Given the description of an element on the screen output the (x, y) to click on. 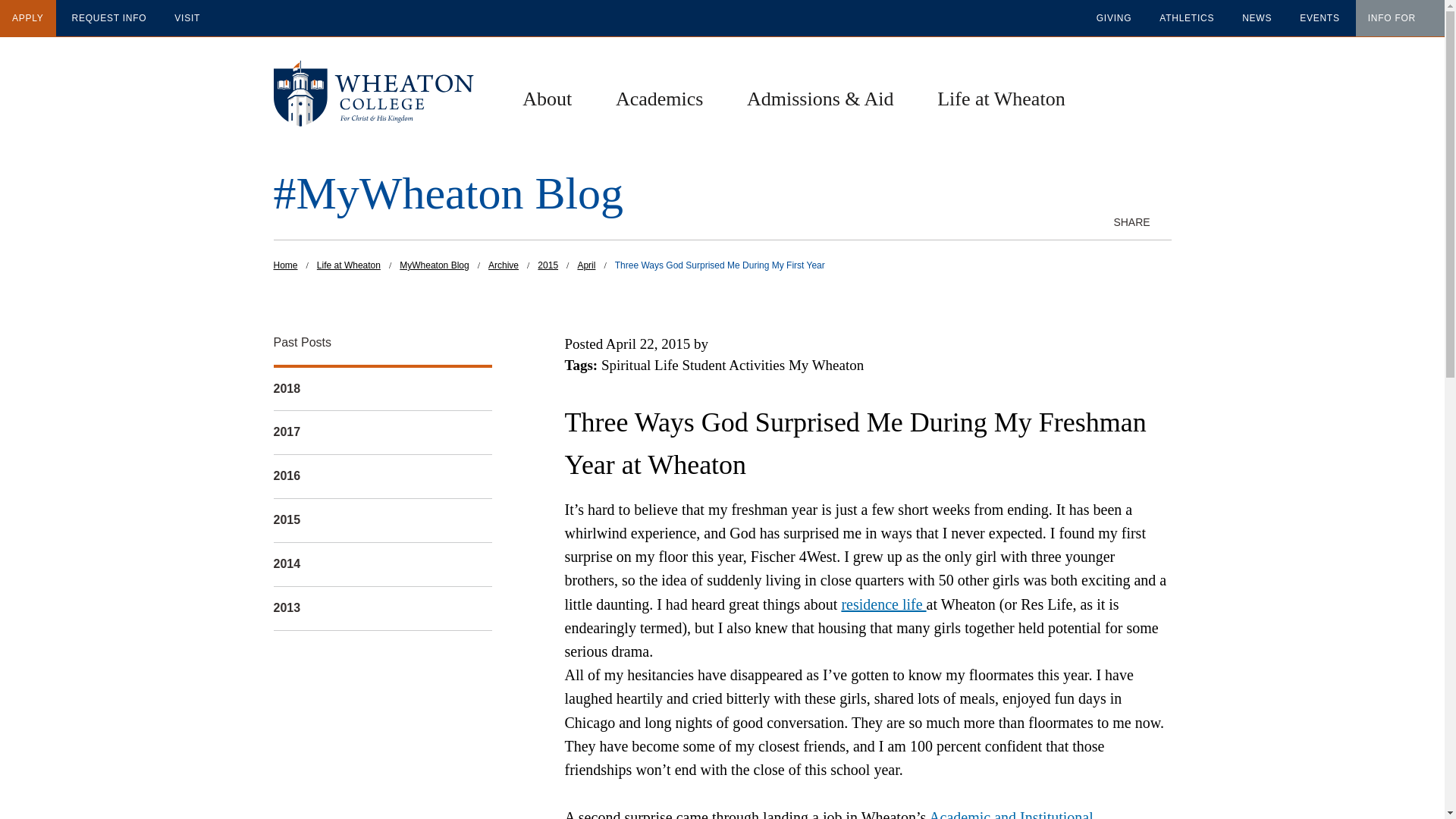
About (547, 99)
GIVING (1114, 17)
EVENTS (1319, 17)
INFO FOR (1388, 17)
ATHLETICS (1186, 17)
APPLY (28, 17)
Academics (659, 99)
REQUEST INFO (108, 17)
VISIT (186, 17)
NEWS (1257, 17)
